Given the description of an element on the screen output the (x, y) to click on. 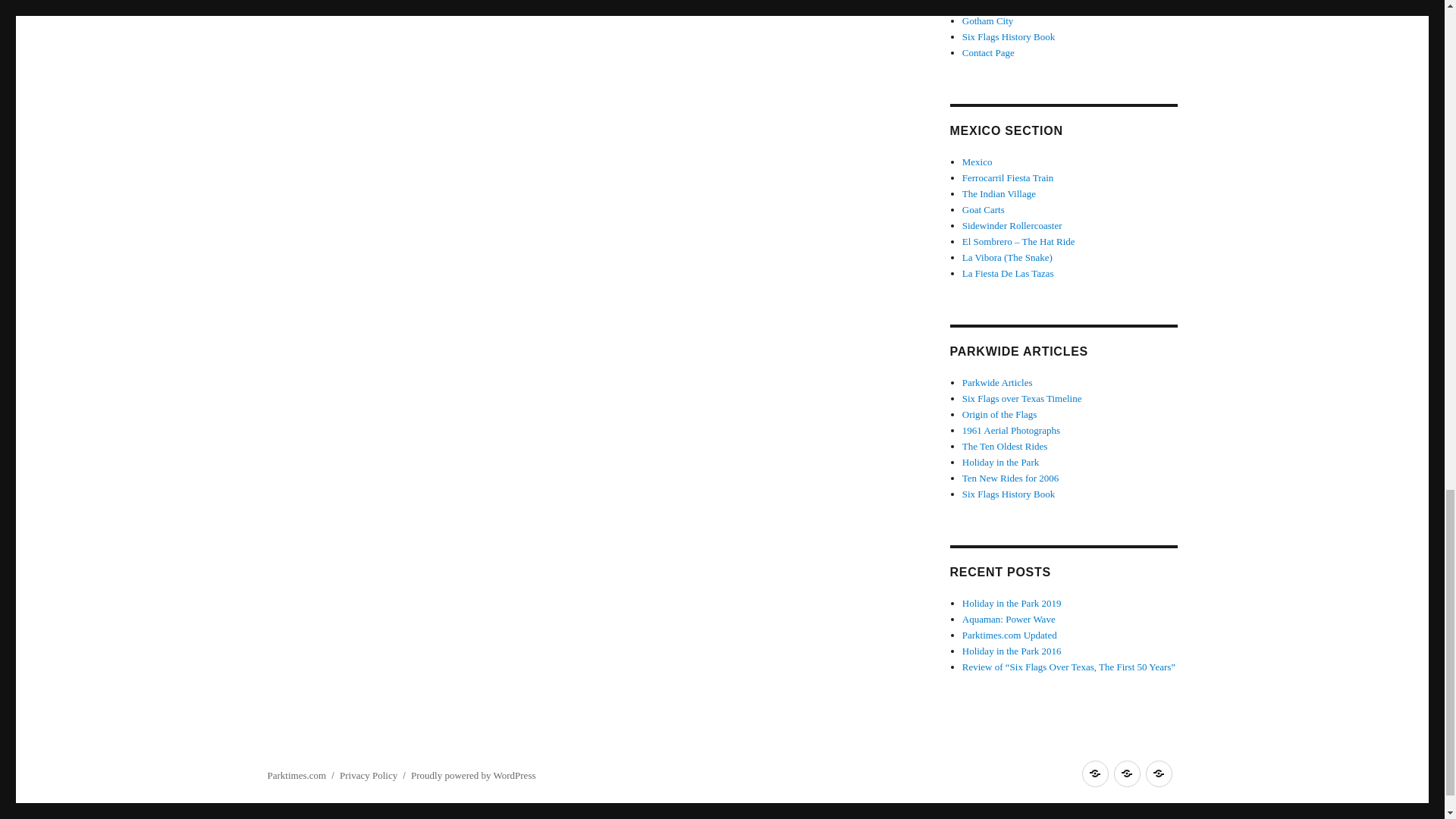
Sidewinder Rollercoaster (1012, 225)
Goodtime Square Games (1011, 5)
Six Flags History Book (1008, 36)
Contact Page (988, 52)
Goat Carts (983, 209)
Mexico (977, 161)
Gotham City (987, 20)
The Indian Village (998, 193)
Ferrocarril Fiesta Train (1008, 177)
